Given the description of an element on the screen output the (x, y) to click on. 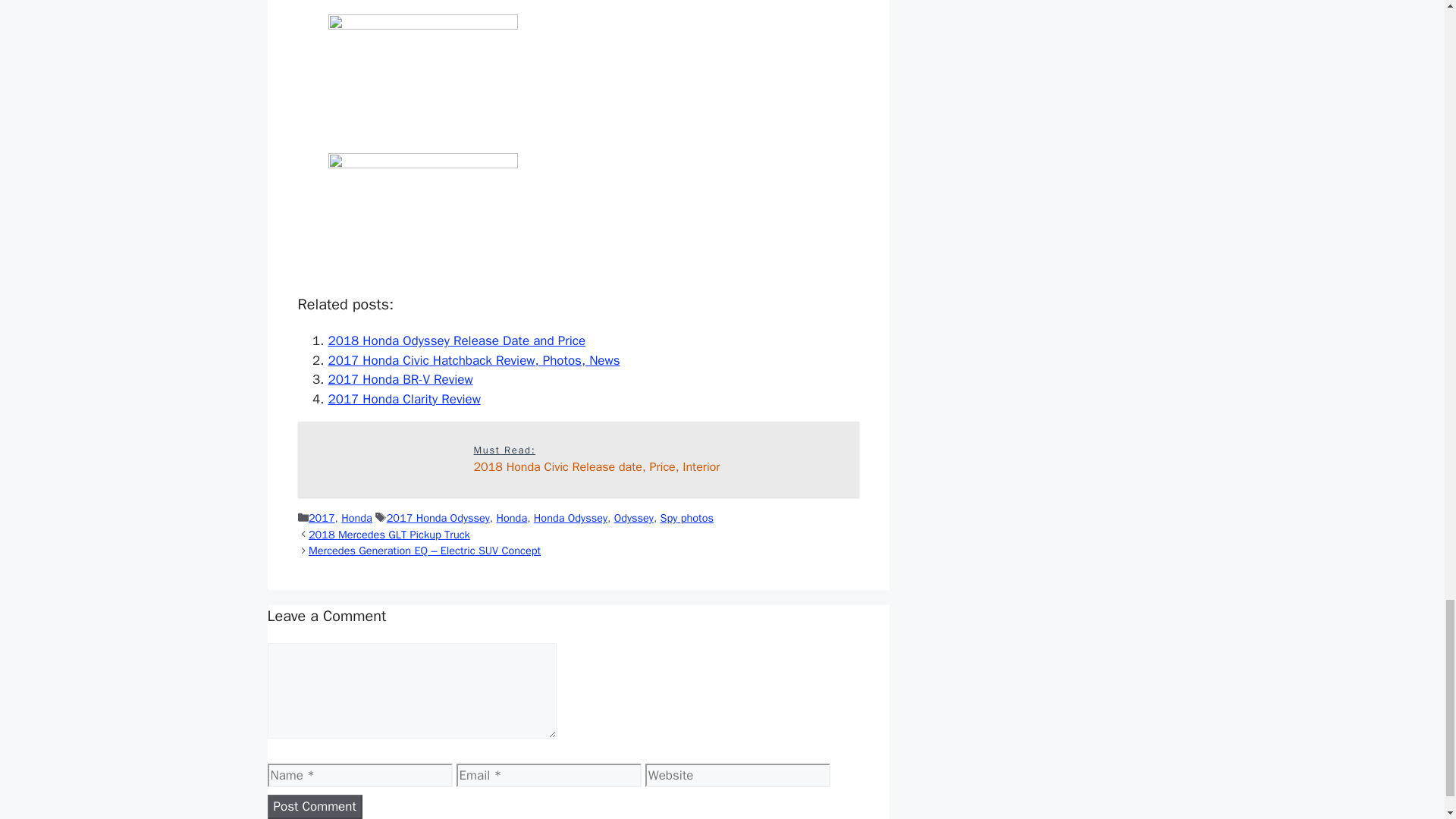
2017 Honda BR-V Review (399, 379)
Odyssey (633, 517)
2017 Honda Clarity Review (403, 399)
Honda Odyssey (578, 459)
2017 Honda Civic Hatchback Review, Photos, News (570, 517)
2017 Honda Civic Hatchback Review, Photos, News (473, 360)
Spy photos (473, 360)
Honda (687, 517)
2018 Honda Odyssey Release Date and Price (511, 517)
